Given the description of an element on the screen output the (x, y) to click on. 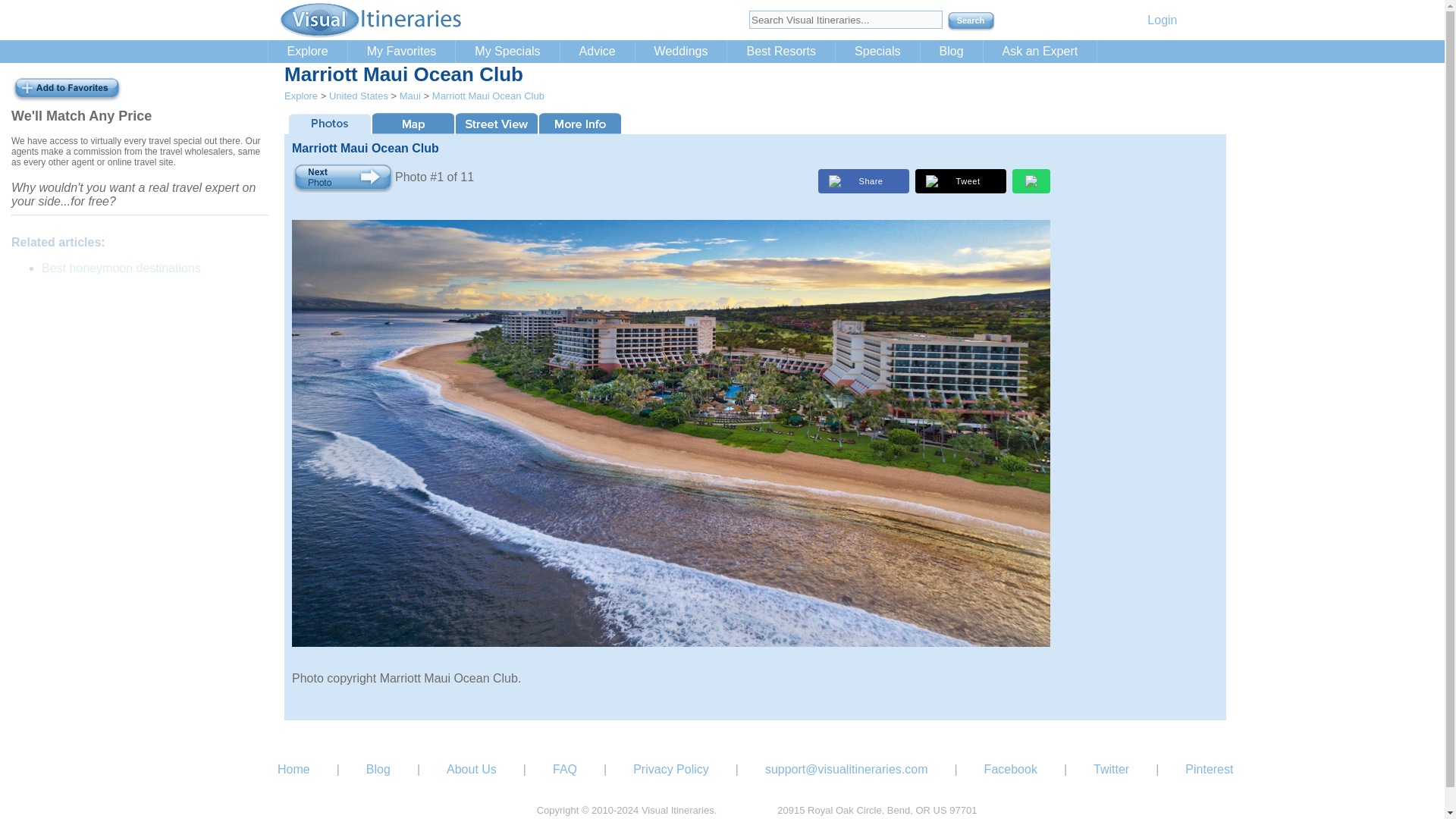
Search (970, 21)
My Specials (507, 51)
My Favorites (401, 51)
Login (1161, 19)
Advice (597, 51)
Explore (307, 51)
Search (970, 21)
